Given the description of an element on the screen output the (x, y) to click on. 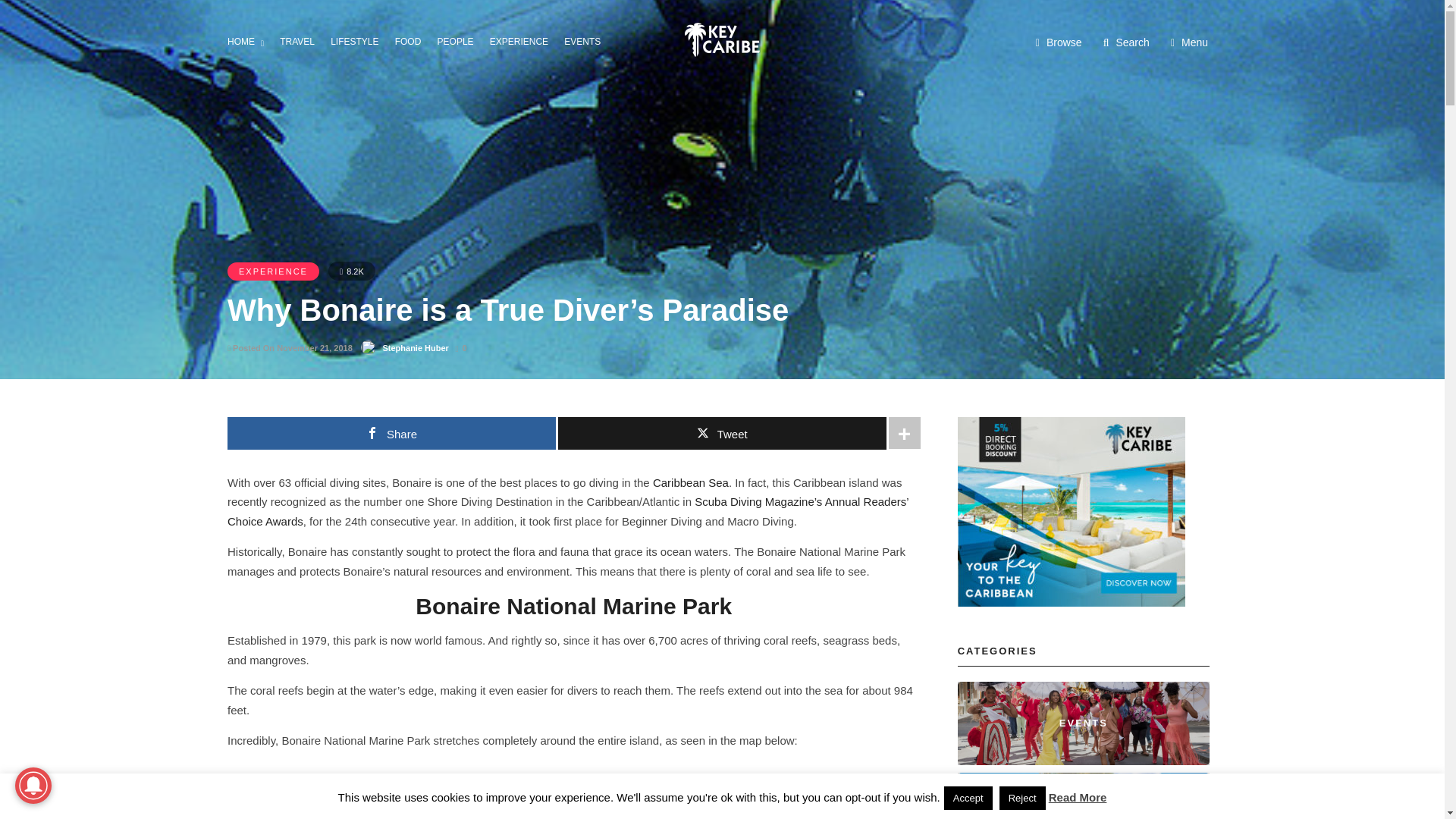
HOME (250, 41)
EXPERIENCE (523, 40)
TRAVEL (301, 40)
EVENTS (587, 40)
PEOPLE (460, 40)
LIFESTYLE (358, 40)
FOOD (412, 40)
Browse (1058, 41)
Menu (1189, 41)
Search (1126, 41)
